Given the description of an element on the screen output the (x, y) to click on. 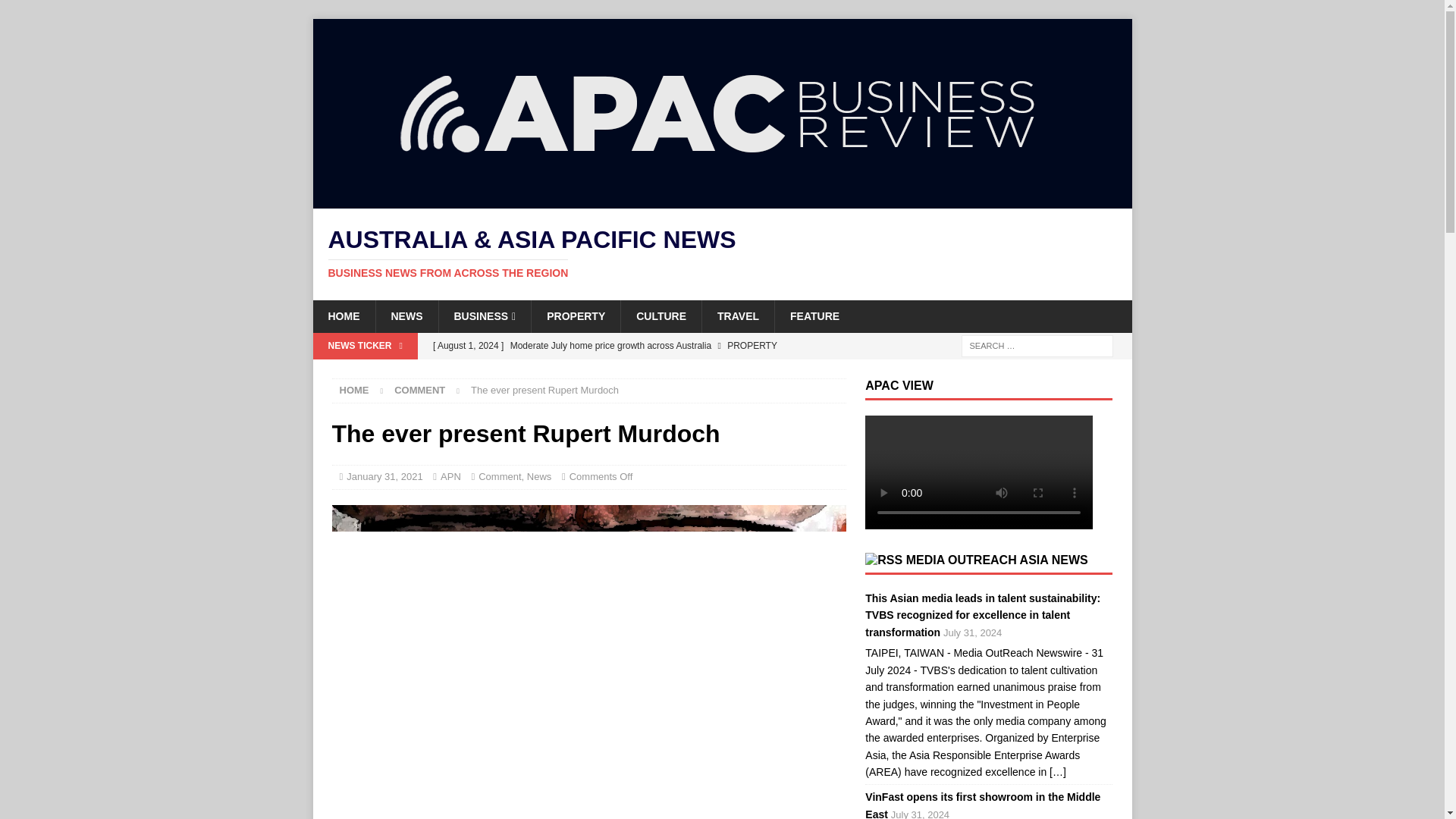
Moderate July home price growth across Australia (634, 345)
News (539, 476)
Home (354, 389)
PROPERTY (575, 316)
Traditional Chinese Music comes to Darling Harbour (634, 371)
APN (451, 476)
CULTURE (660, 316)
HOME (343, 316)
NEWS (406, 316)
Comment (500, 476)
Search (56, 11)
FEATURE (814, 316)
BUSINESS (484, 316)
Comment (419, 389)
January 31, 2021 (384, 476)
